Given the description of an element on the screen output the (x, y) to click on. 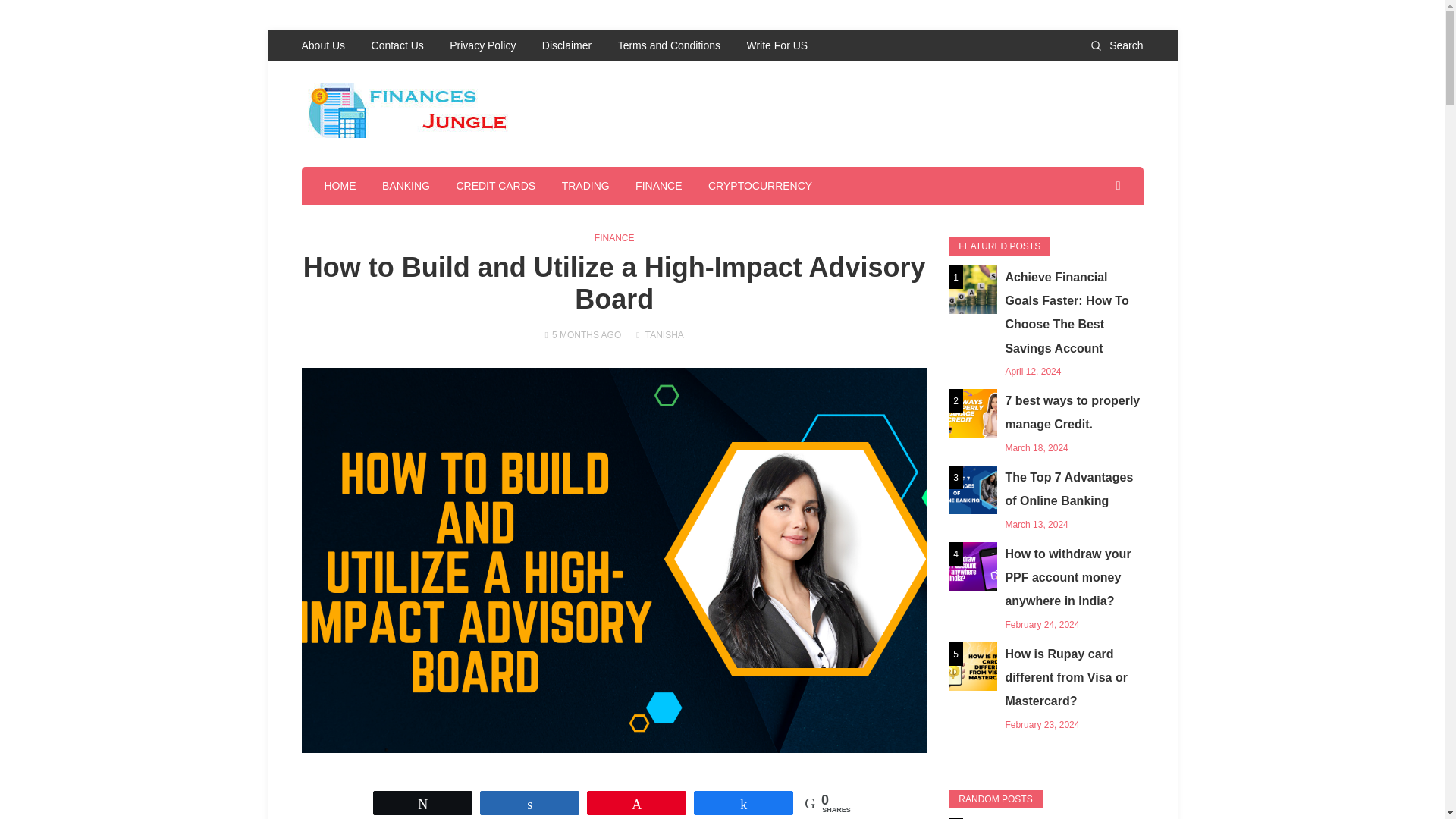
CREDIT CARDS (495, 185)
How is Rupay card different from Visa or Mastercard? (1045, 688)
Contact Us (397, 45)
Write For US (776, 45)
The Top 7 Advantages of Online Banking (1045, 500)
Terms and Conditions (668, 45)
CRYPTOCURRENCY (759, 185)
5 MONTHS (574, 335)
TRADING (586, 185)
